Given the description of an element on the screen output the (x, y) to click on. 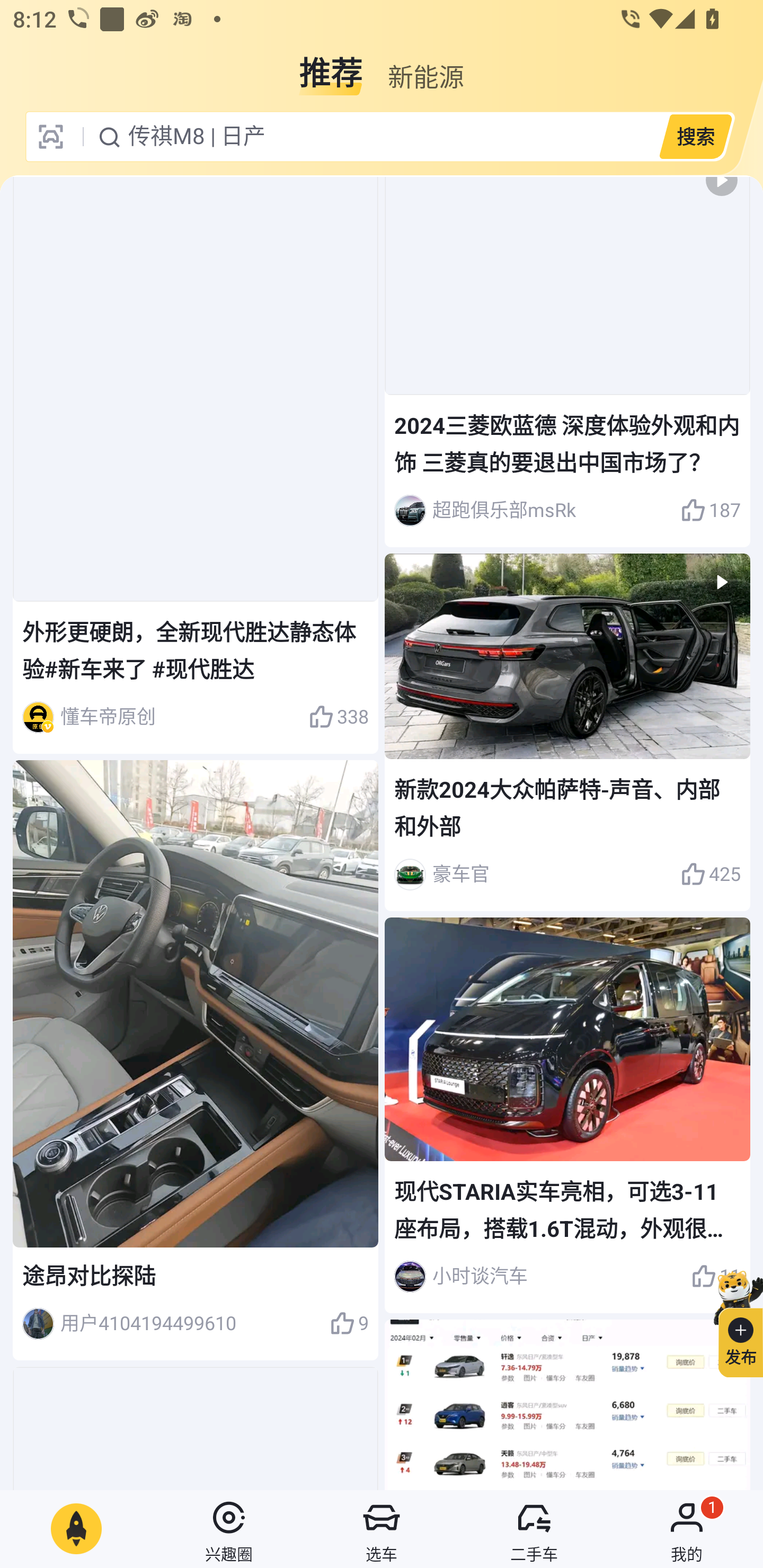
推荐 (330, 65)
新能源 (425, 65)
搜索 (695, 136)
外形更硬朗，全新现代胜达静态体验#新车来了 #现代胜达 懂车帝原创 338 (195, 465)
 2024三菱欧蓝德 深度体验外观和内饰 三菱真的要退出中国市场了？ 超跑俱乐部msRk 187 (567, 362)
187 (710, 510)
 新款2024大众帕萨特-声音、内部和外部 豪车官 425 (567, 732)
338 (338, 717)
途昂对比探陆 用户4104194499610 9 (195, 1060)
425 (710, 874)
现代STARIA实车亮相，可选3-11座布局，搭载1.6T混动，外观很时尚 小时谈汽车 11 (567, 1115)
11 (715, 1275)
发布 (732, 1321)
9 (348, 1322)
 兴趣圈 (228, 1528)
 选车 (381, 1528)
 二手车 (533, 1528)
 我的 (686, 1528)
